Given the description of an element on the screen output the (x, y) to click on. 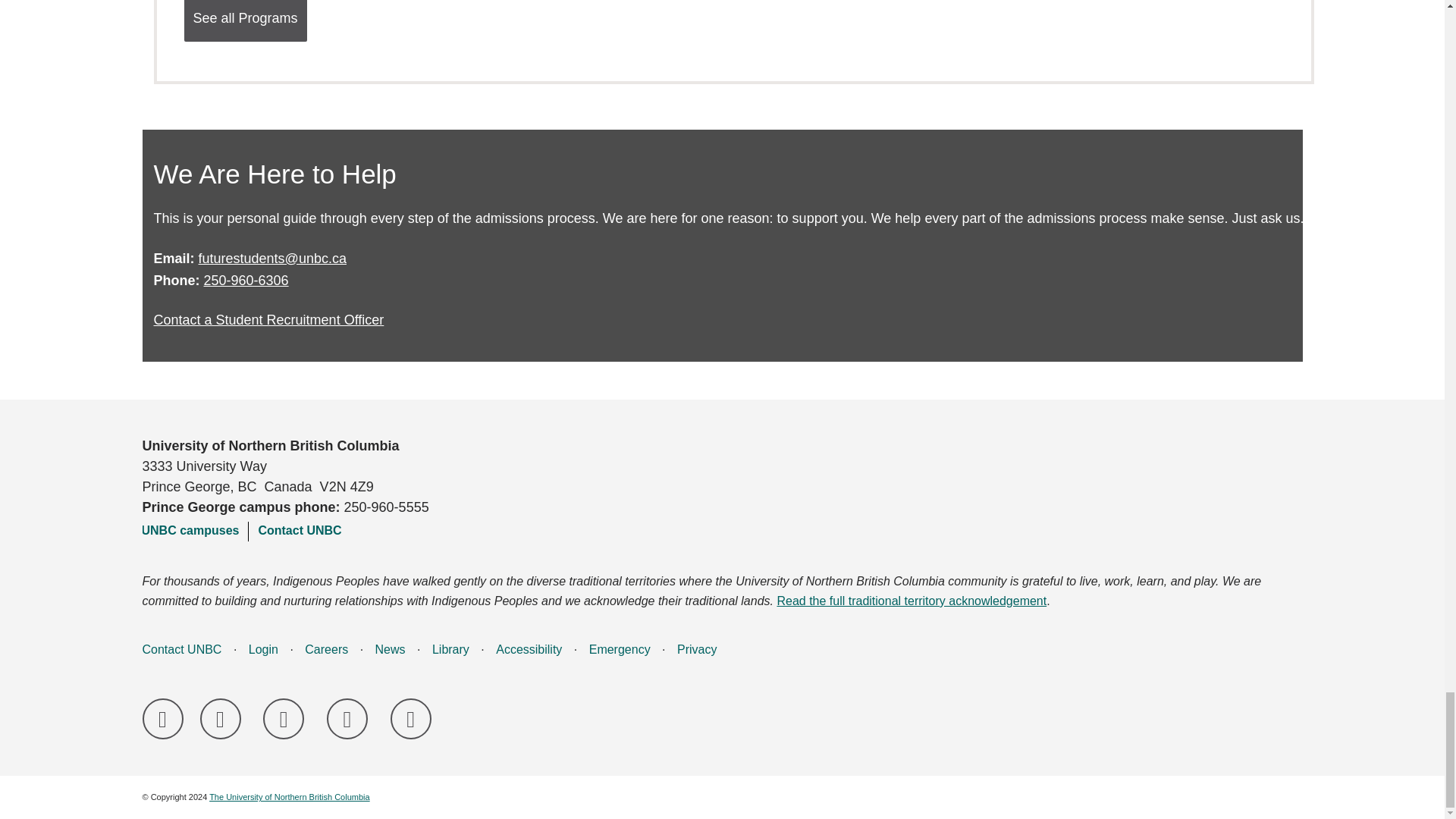
Follow us on Youtube (410, 718)
Follow us on Instagram (220, 718)
Follow us on Linkedin (283, 718)
Follow us on Facebook (162, 718)
Follow us on Twitter (347, 718)
